Given the description of an element on the screen output the (x, y) to click on. 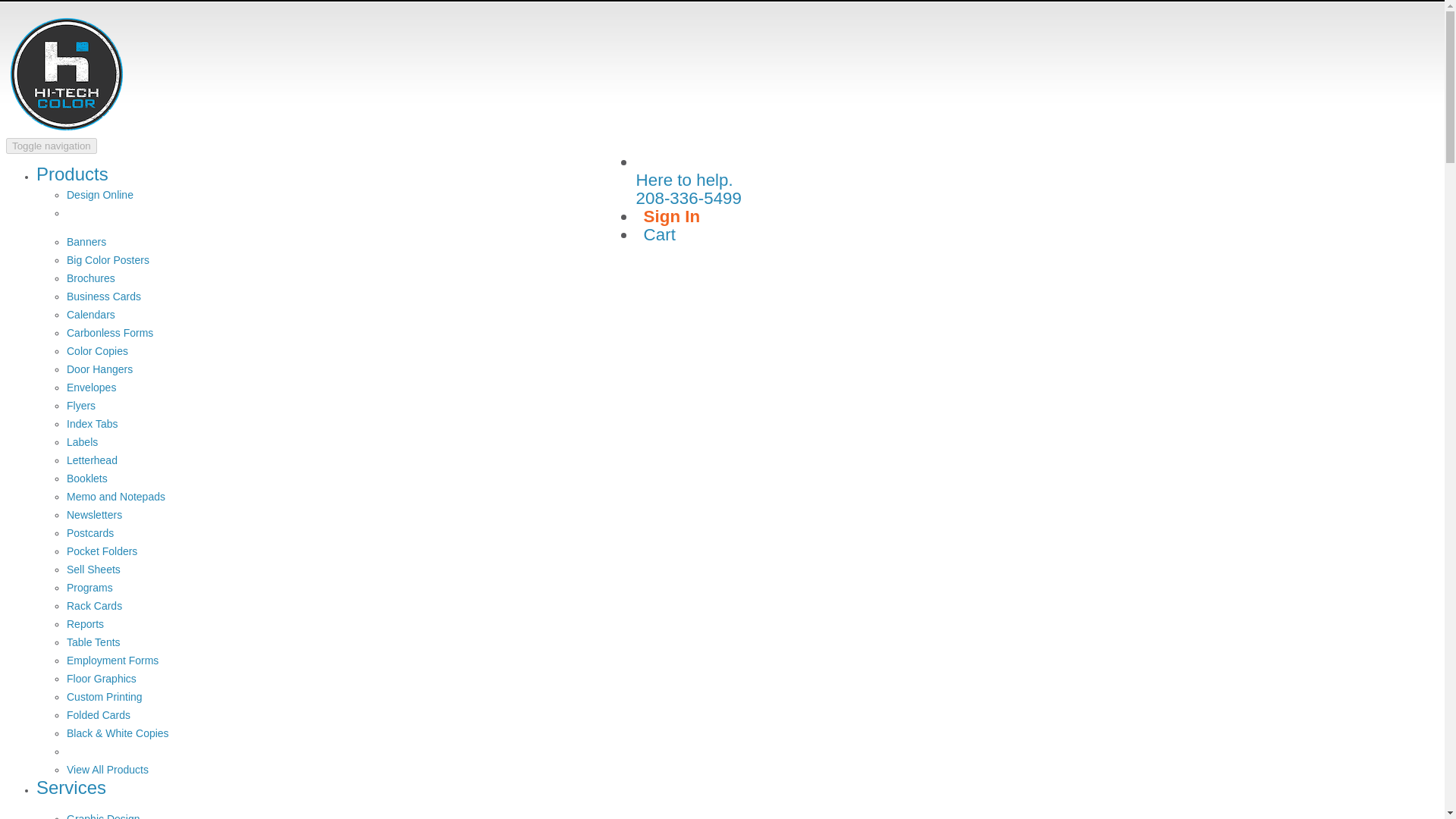
Big Color Posters (107, 259)
Memo and Notepads (115, 496)
Booklets (86, 478)
Sign In (671, 216)
Table Tents (93, 642)
Letterhead (91, 460)
Toggle navigation (51, 145)
Banners (86, 241)
Business Cards (103, 296)
Envelopes (91, 387)
Sell Sheets (93, 569)
Brochures (90, 277)
Graphic Design (102, 816)
Newsletters (94, 514)
Calendars (90, 314)
